Given the description of an element on the screen output the (x, y) to click on. 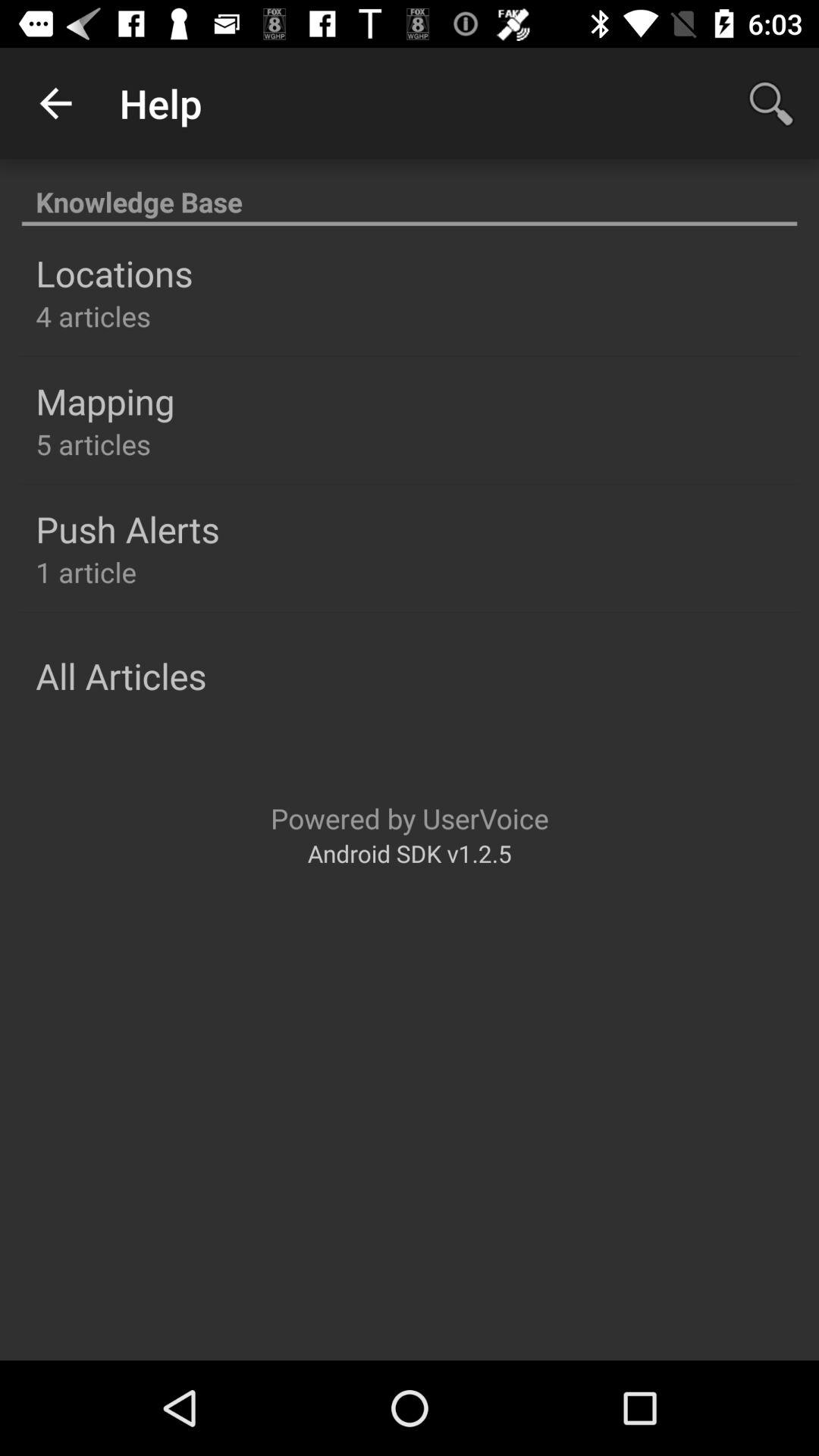
open the item below the locations (92, 315)
